Given the description of an element on the screen output the (x, y) to click on. 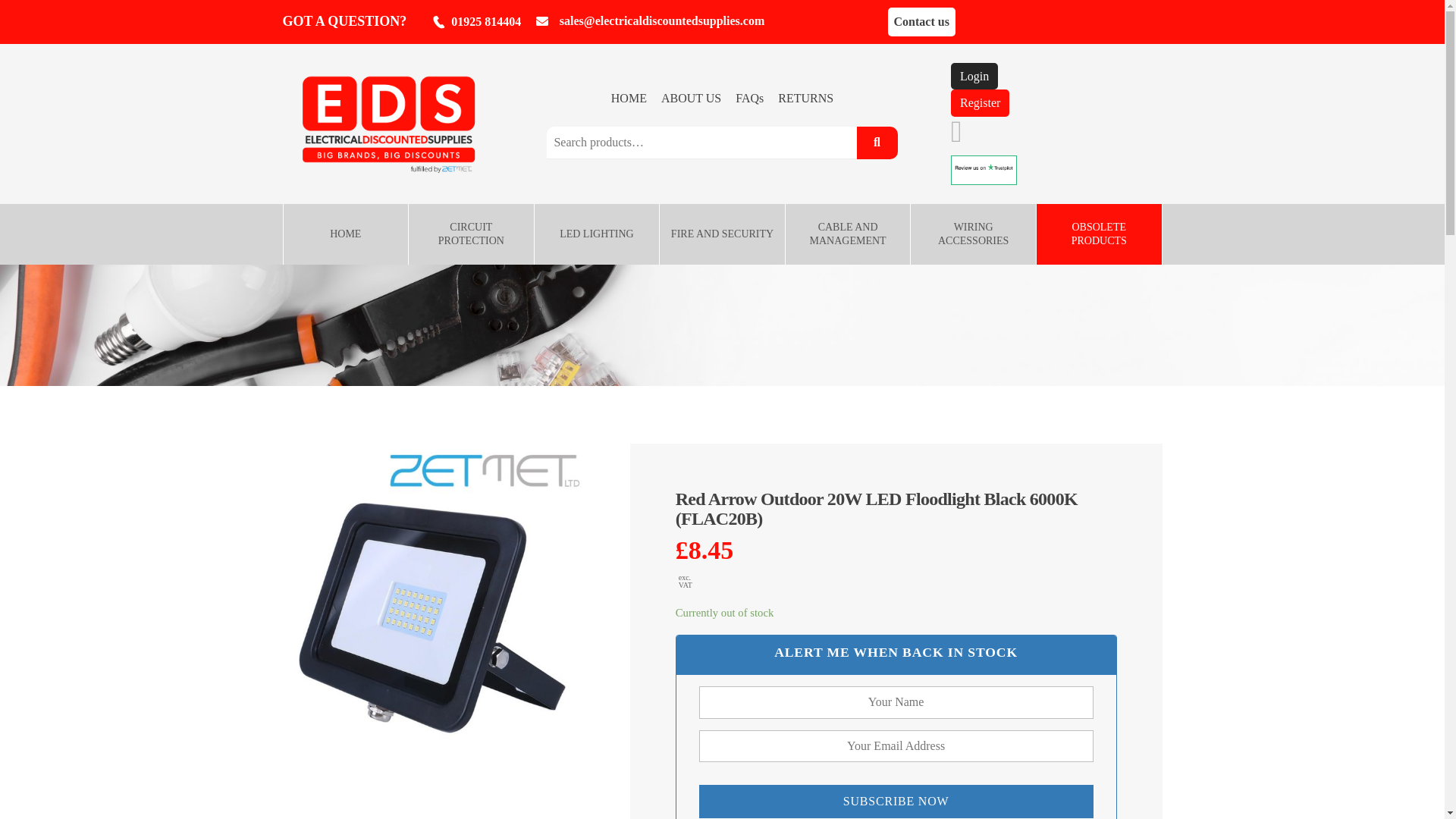
HOME (346, 233)
Login (973, 76)
FAQs (748, 97)
Search (877, 142)
CABLE AND MANAGEMENT (848, 233)
HOME (628, 97)
OBSOLETE PRODUCTS (1098, 233)
Register (979, 103)
ABOUT US (690, 97)
LED LIGHTING (596, 233)
Screenshot 2024-04-18 at 09.15.01 (984, 166)
Contact us (921, 21)
01925 814404 (475, 21)
20W LED FLAC20B (435, 597)
Subscribe Now (895, 801)
